Given the description of an element on the screen output the (x, y) to click on. 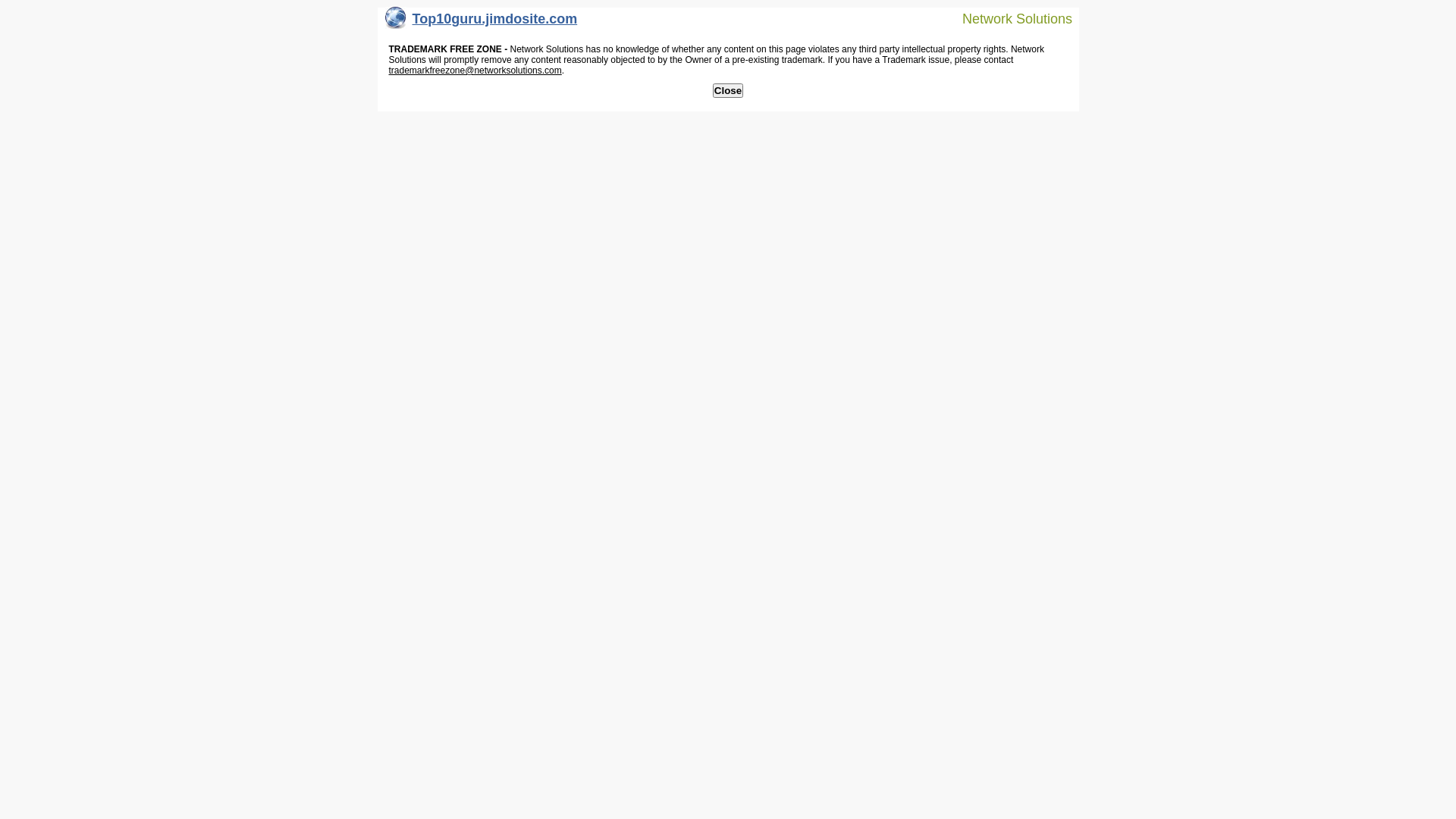
Close Element type: text (727, 90)
trademarkfreezone@networksolutions.com Element type: text (474, 70)
Top10guru.jimdosite.com Element type: text (481, 21)
Network Solutions Element type: text (1007, 17)
